Given the description of an element on the screen output the (x, y) to click on. 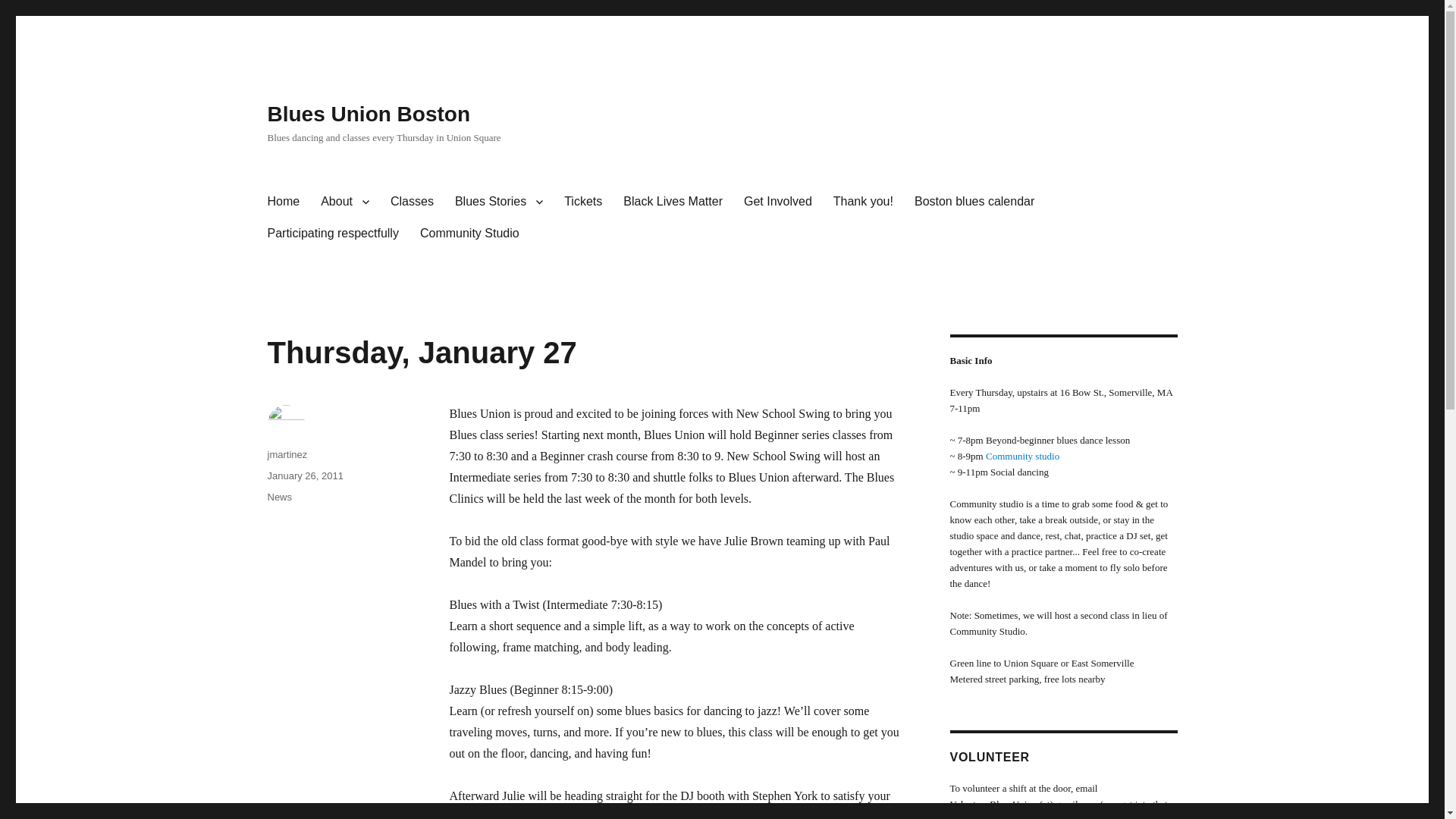
January 26, 2011 (304, 475)
Community Studio (469, 233)
Home (283, 201)
jmartinez (286, 454)
Thank you! (863, 201)
Boston blues calendar (974, 201)
Classes (412, 201)
Blues Union Boston (368, 114)
Community studio (1022, 455)
News (279, 496)
